Given the description of an element on the screen output the (x, y) to click on. 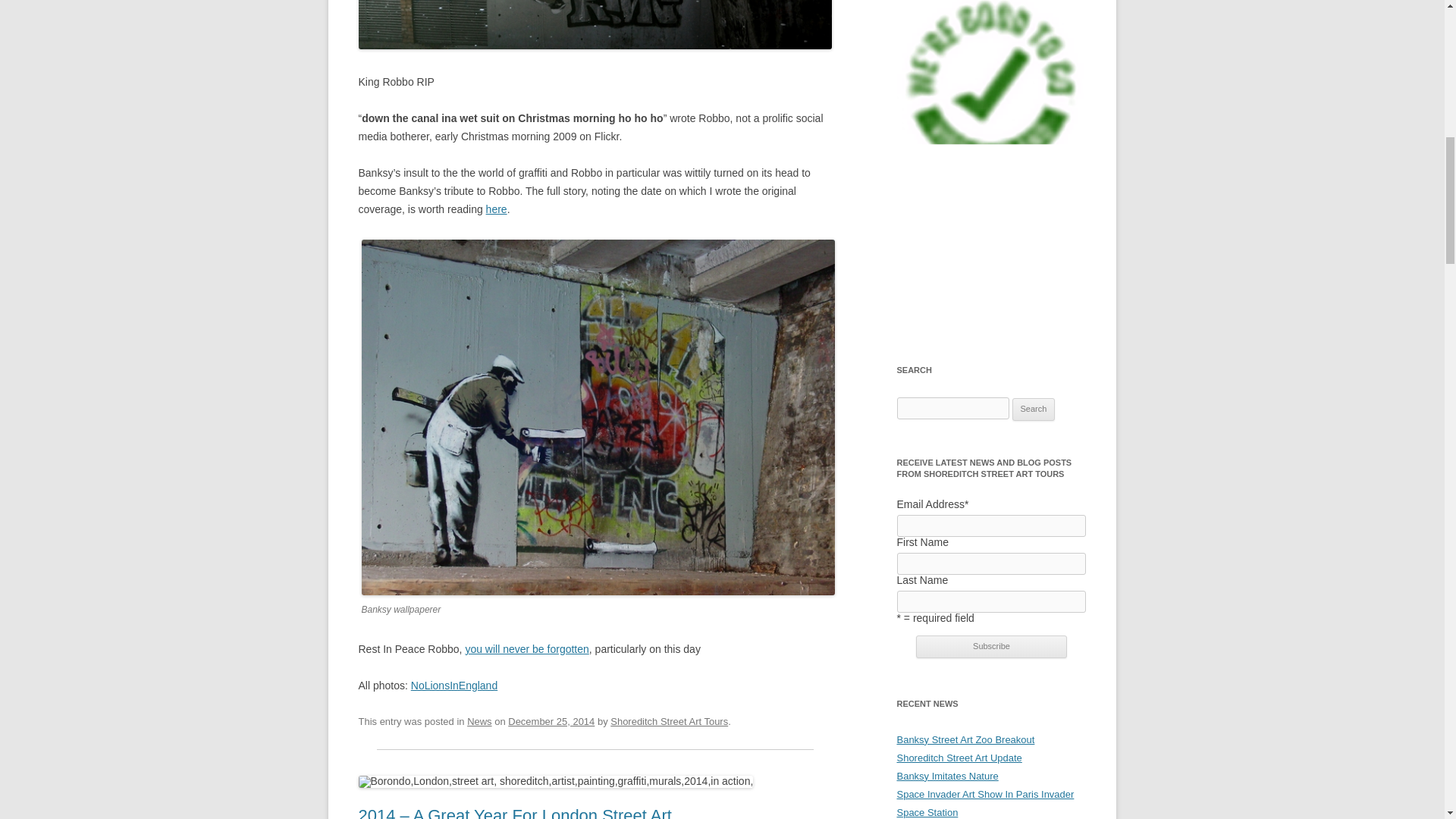
Shoreditch Street Art Tours (669, 721)
here (496, 209)
News (479, 721)
you will never be forgotten (526, 648)
11:54 (551, 721)
NoLionsInEngland (453, 685)
Search (1033, 409)
View all posts by Shoreditch Street Art Tours (669, 721)
December 25, 2014 (551, 721)
Subscribe (991, 646)
